Given the description of an element on the screen output the (x, y) to click on. 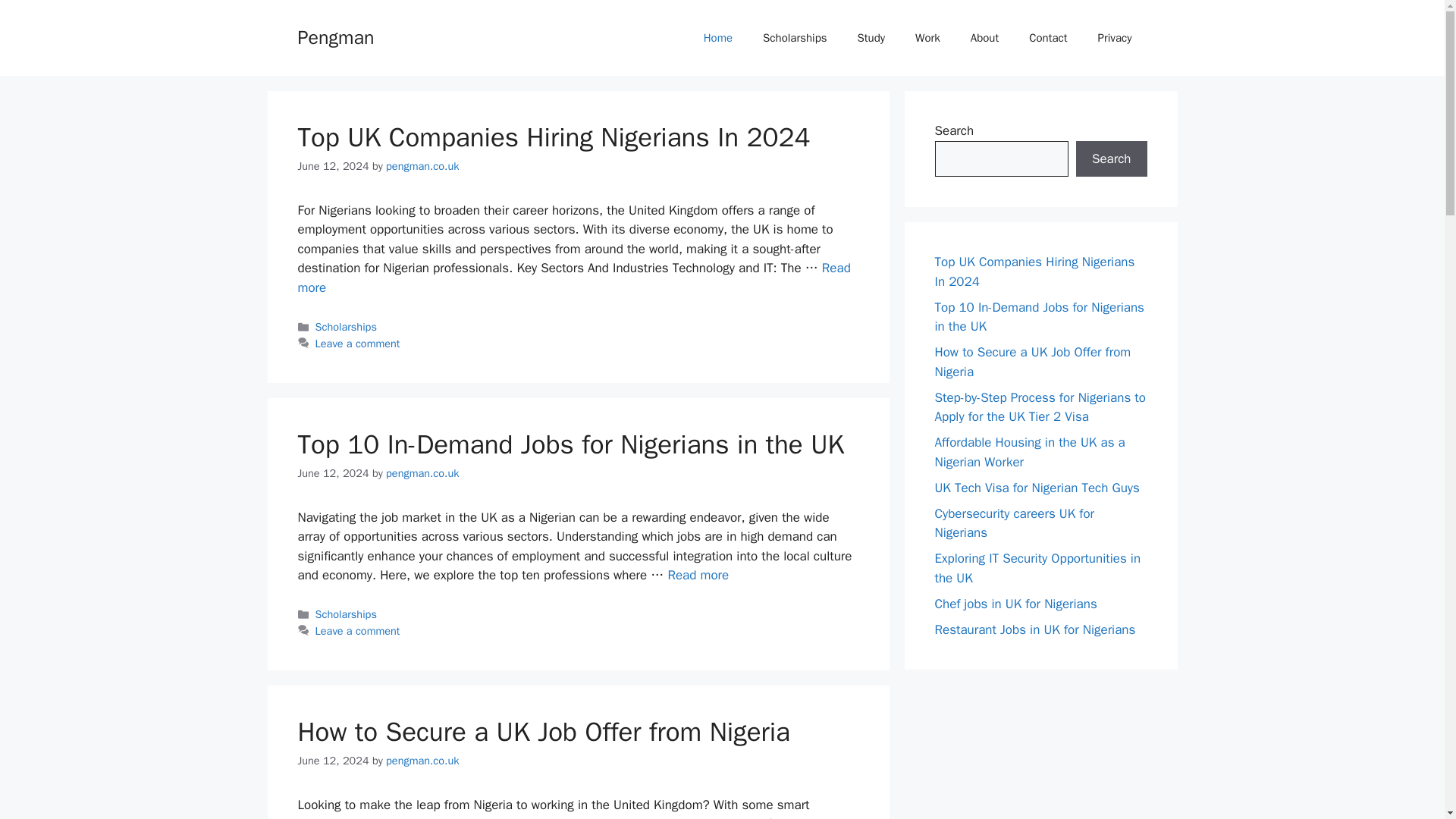
Top UK Companies Hiring Nigerians In 2024 (573, 277)
About (984, 37)
Pengman (335, 37)
How to Secure a UK Job Offer from Nigeria (543, 731)
Home (718, 37)
Top 10 In-Demand Jobs for Nigerians in the UK (697, 575)
Work (927, 37)
Read more (697, 575)
View all posts by pengman.co.uk (421, 165)
Scholarships (346, 613)
Leave a comment (357, 343)
Top 10 In-Demand Jobs for Nigerians in the UK (570, 444)
pengman.co.uk (421, 472)
Read more (573, 277)
pengman.co.uk (421, 760)
